Given the description of an element on the screen output the (x, y) to click on. 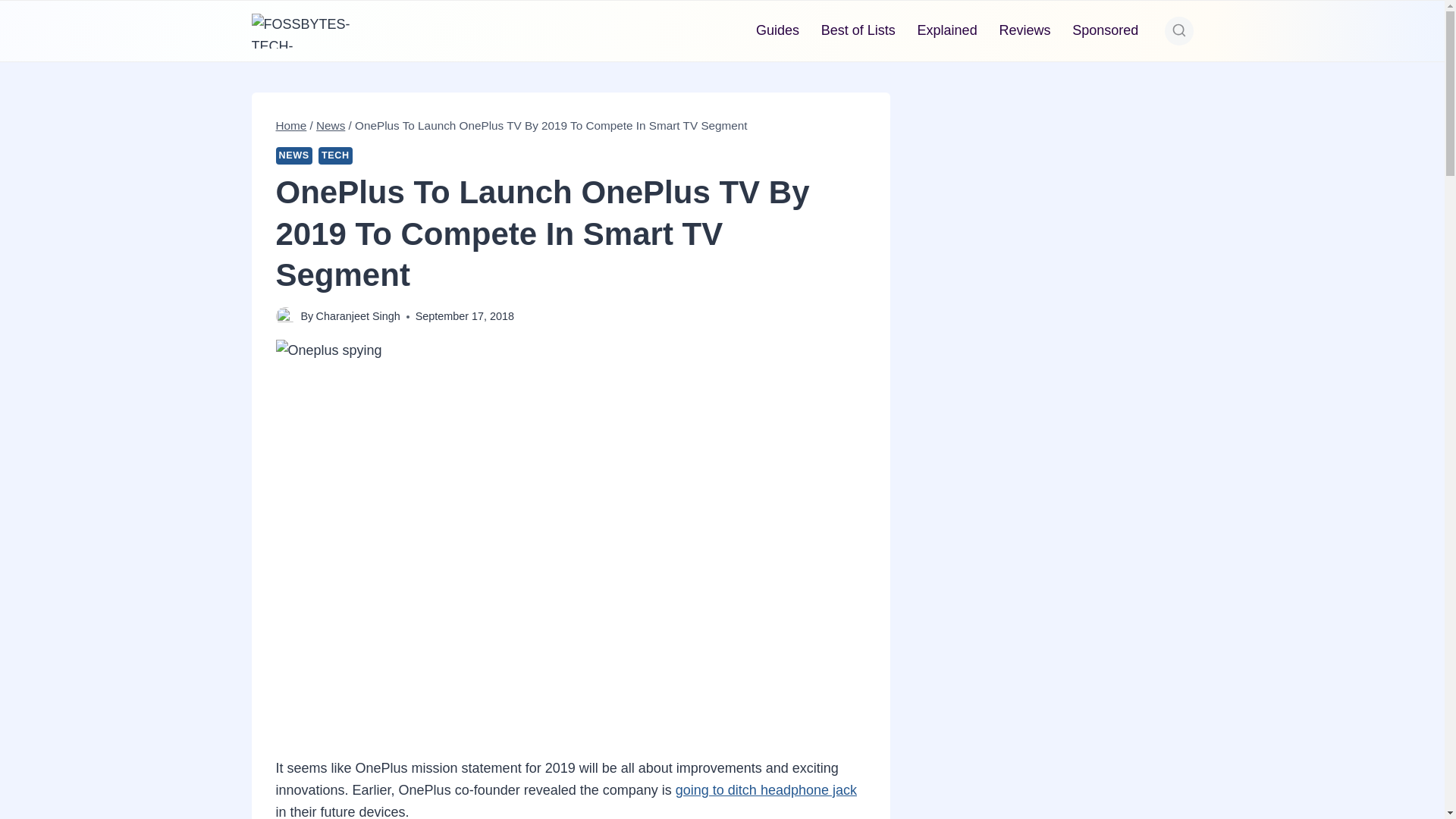
TECH (335, 155)
going to ditch headphone jack (766, 789)
Best of Lists (857, 30)
Explained (946, 30)
NEWS (294, 155)
News (330, 124)
Home (291, 124)
Reviews (1024, 30)
Guides (777, 30)
Sponsored (1105, 30)
